Given the description of an element on the screen output the (x, y) to click on. 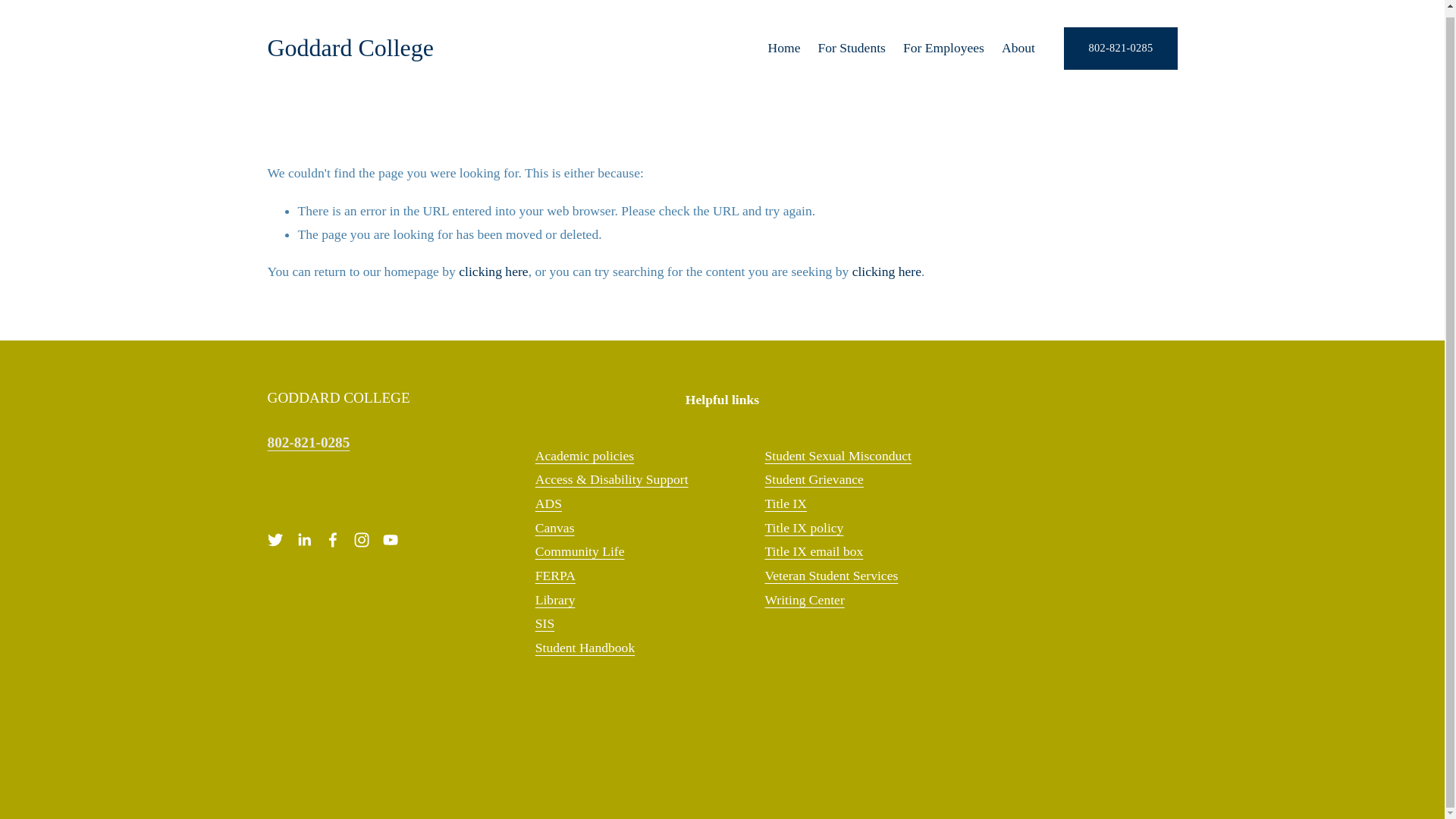
Goddard College (349, 47)
Student Grievance (813, 479)
Student Handbook (584, 648)
About (1018, 48)
Library (555, 600)
ADS (548, 504)
Home (783, 48)
Canvas (555, 528)
clicking here (492, 271)
clicking here (886, 271)
Student Sexual Misconduct (837, 456)
Community Life (579, 551)
802-821-0285 (1120, 47)
Academic policies (584, 456)
For Students (850, 48)
